Given the description of an element on the screen output the (x, y) to click on. 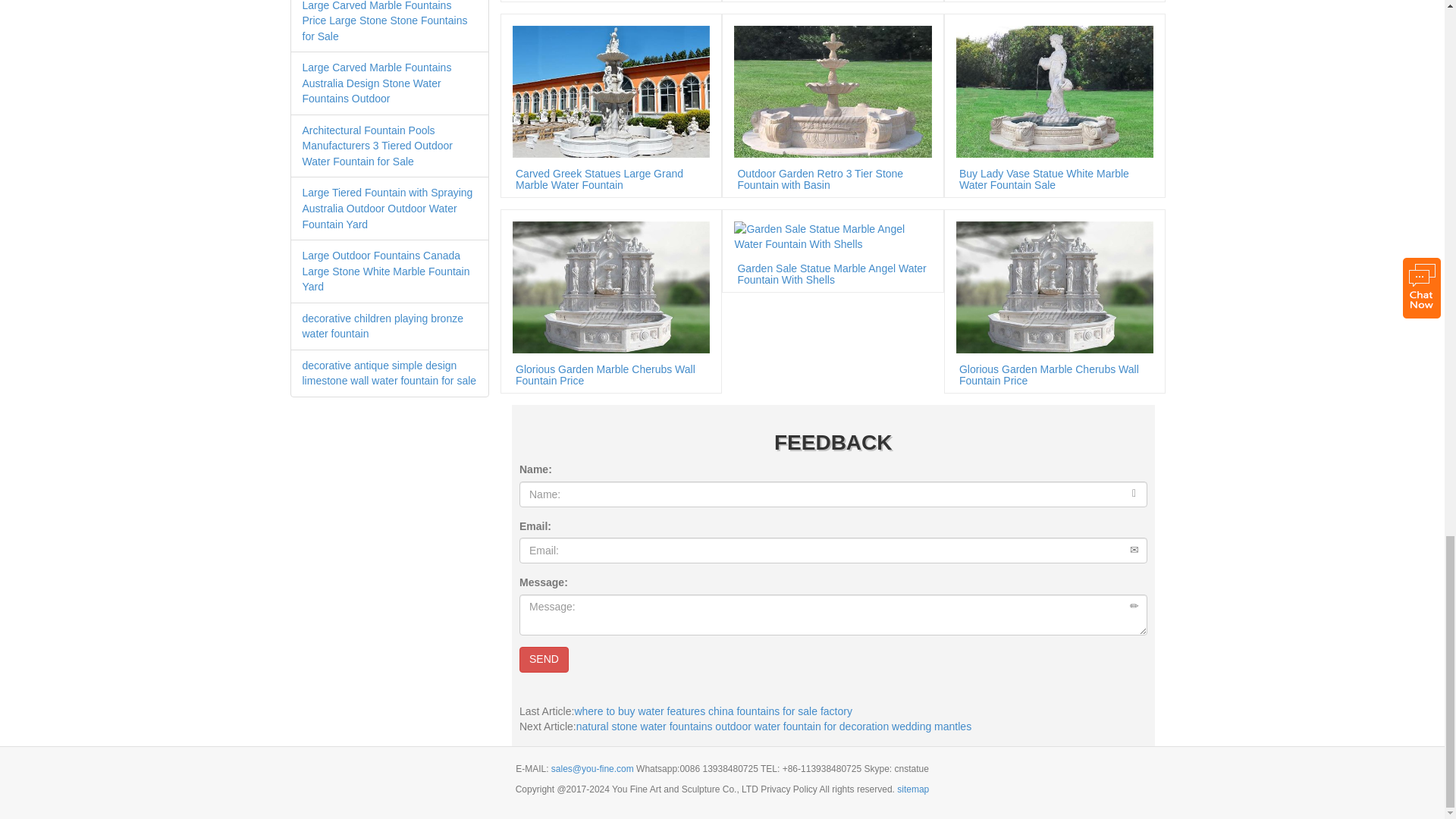
decorative children playing bronze water fountain (382, 326)
